Given the description of an element on the screen output the (x, y) to click on. 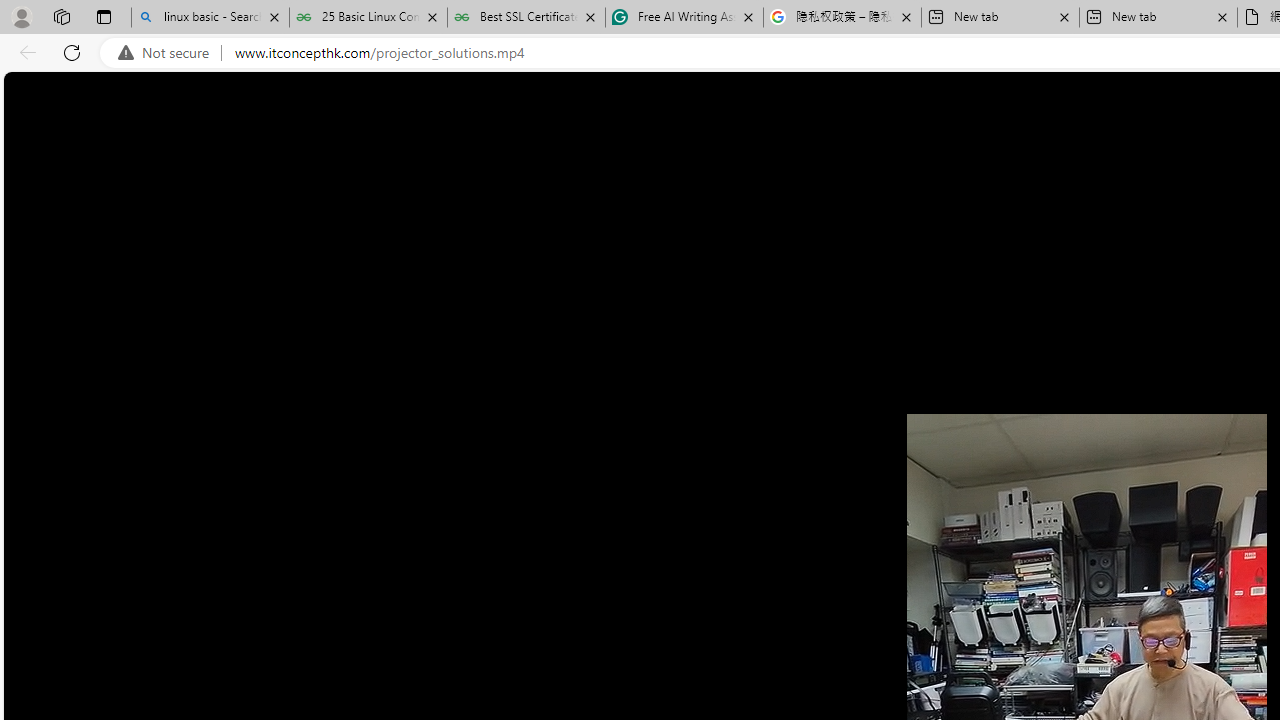
Best SSL Certificates Provider in India - GeeksforGeeks (526, 17)
linux basic - Search (210, 17)
Not secure (168, 53)
25 Basic Linux Commands For Beginners - GeeksforGeeks (368, 17)
Free AI Writing Assistance for Students | Grammarly (683, 17)
